Given the description of an element on the screen output the (x, y) to click on. 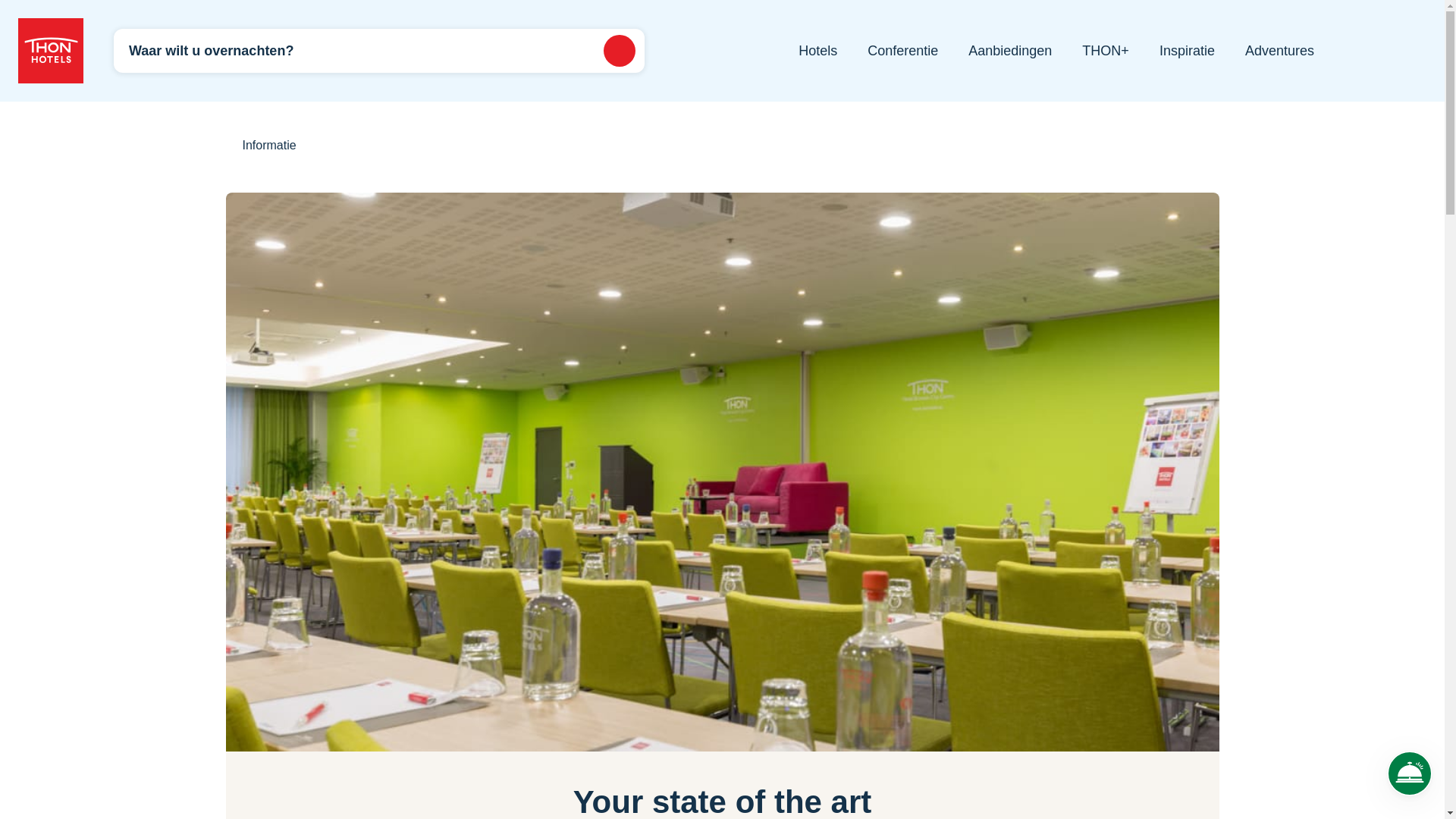
Inspiratie (1186, 49)
Waar wilt u overnachten? (379, 50)
Hotels (817, 49)
Adventures (1279, 49)
Aanbiedingen (1009, 49)
Conferentie (902, 49)
